Given the description of an element on the screen output the (x, y) to click on. 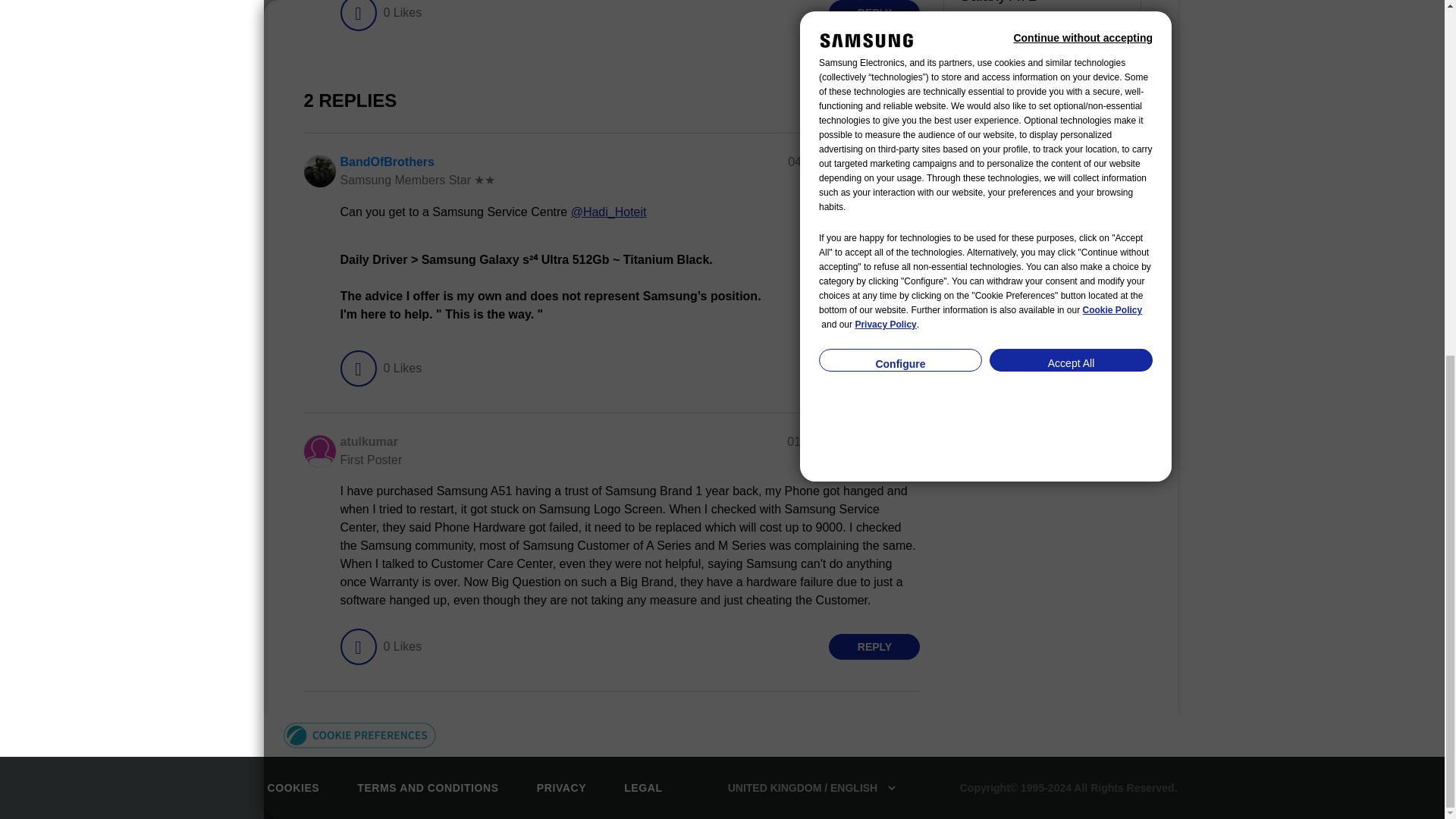
REPLY (874, 12)
The total number of likes this post has received. (401, 15)
BandOfBrothers (386, 161)
Click here to give likes to this post. (357, 15)
